Given the description of an element on the screen output the (x, y) to click on. 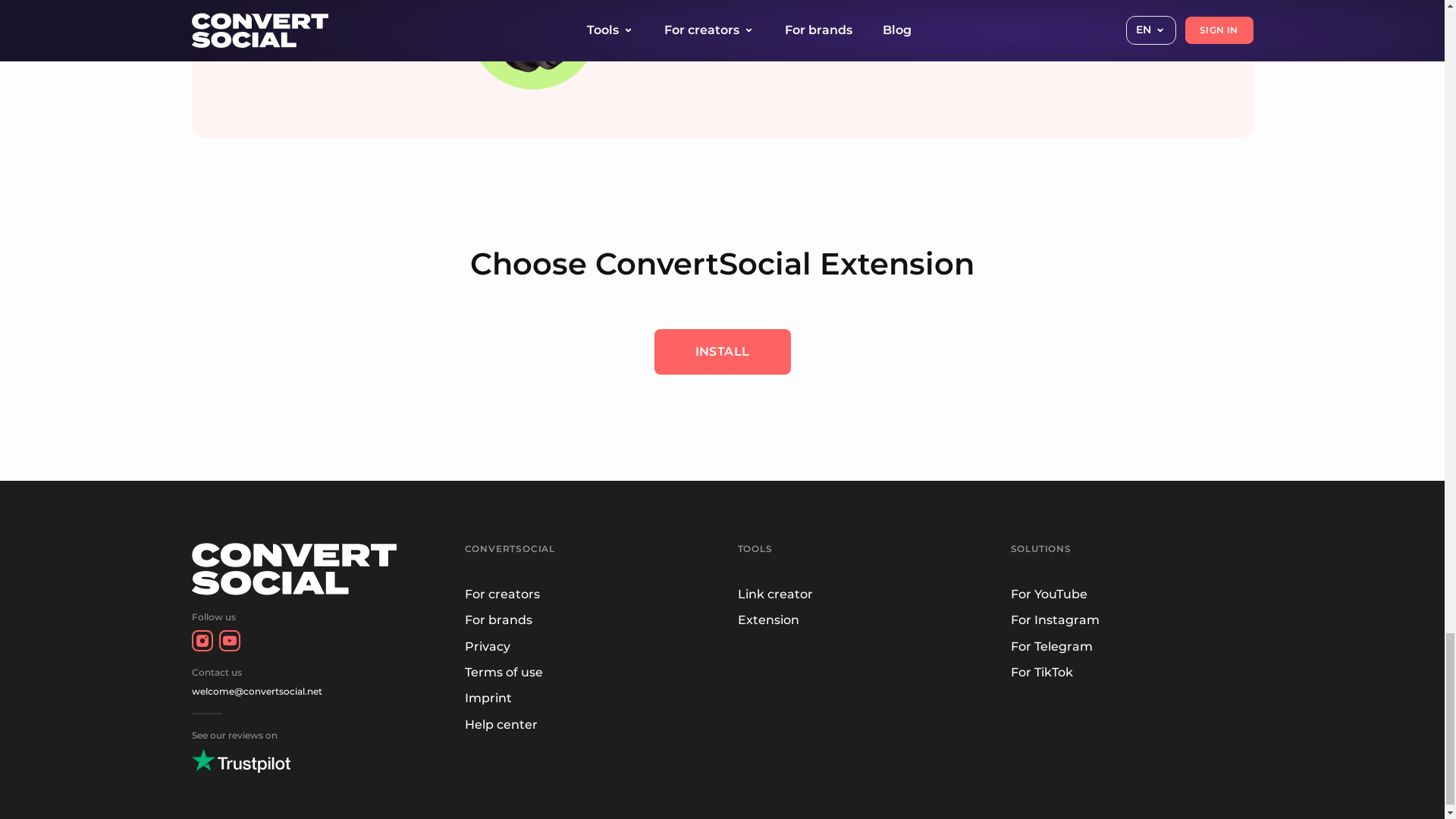
For brands (497, 619)
INSTALL (721, 351)
See our reviews on (311, 751)
For creators (501, 594)
TRY NOW (820, 3)
CONVERTSOCIAL (509, 548)
